Given the description of an element on the screen output the (x, y) to click on. 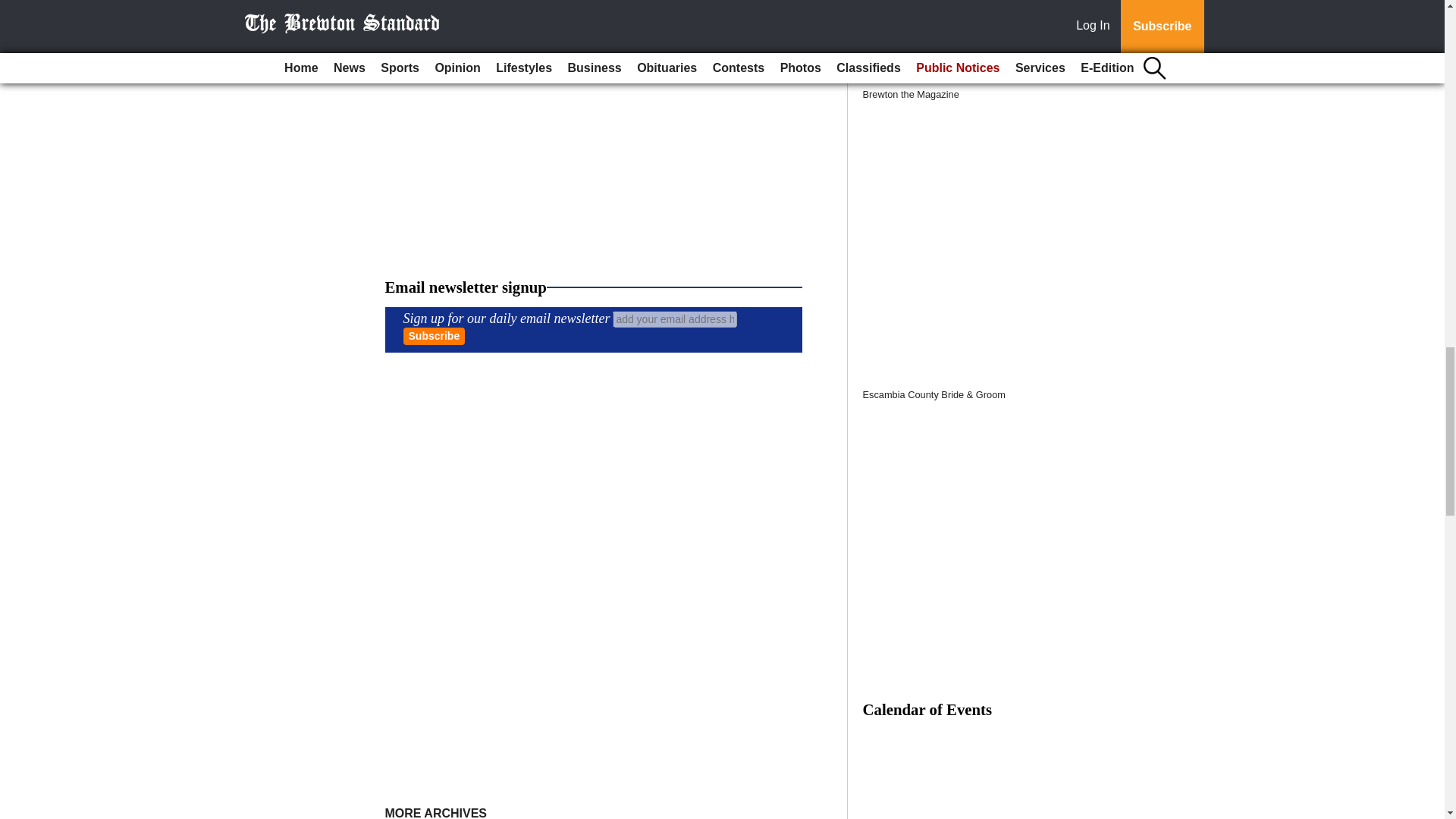
Subscribe (434, 335)
Subscribe (434, 335)
